Given the description of an element on the screen output the (x, y) to click on. 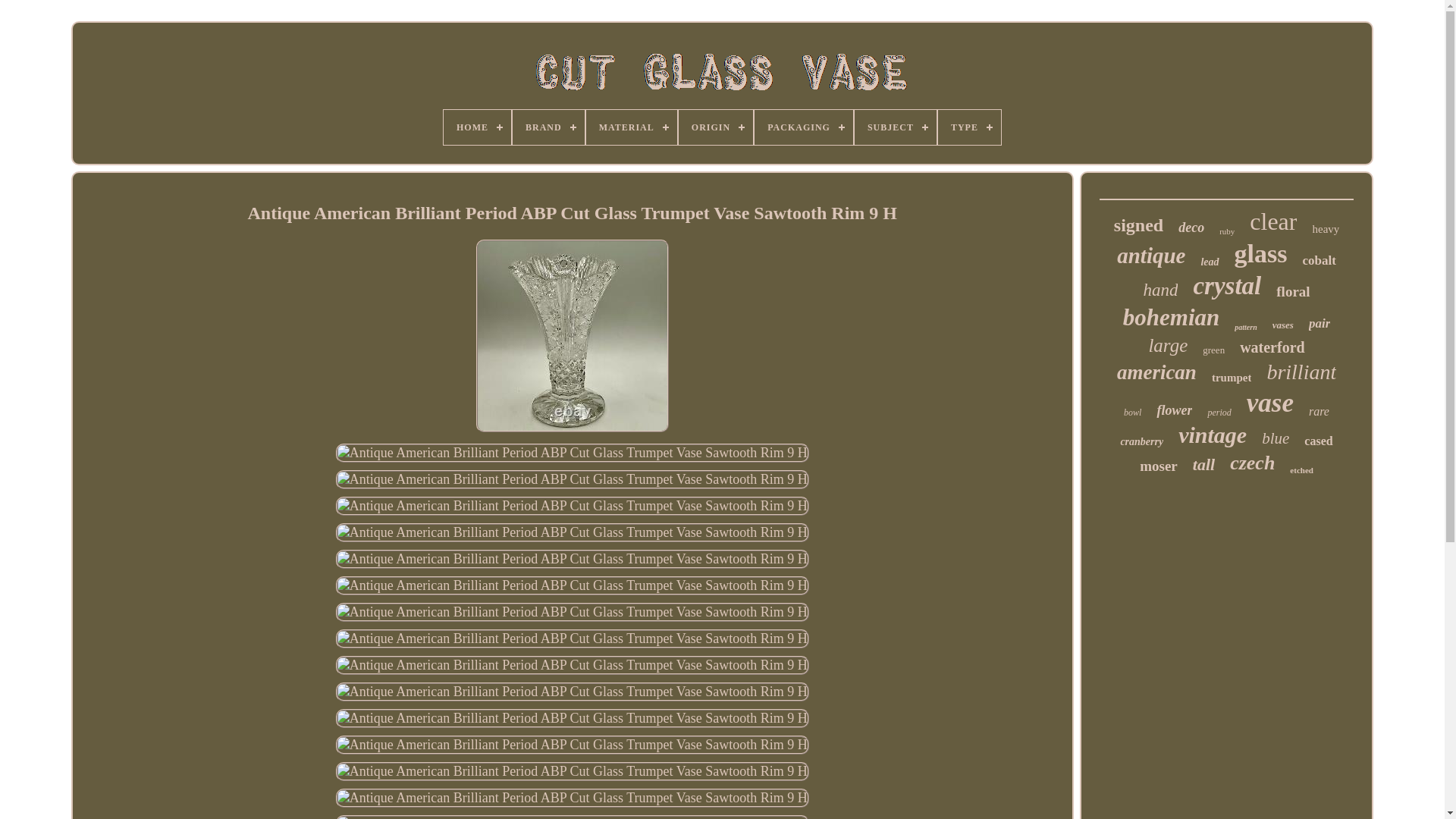
BRAND (548, 126)
MATERIAL (631, 126)
